Given the description of an element on the screen output the (x, y) to click on. 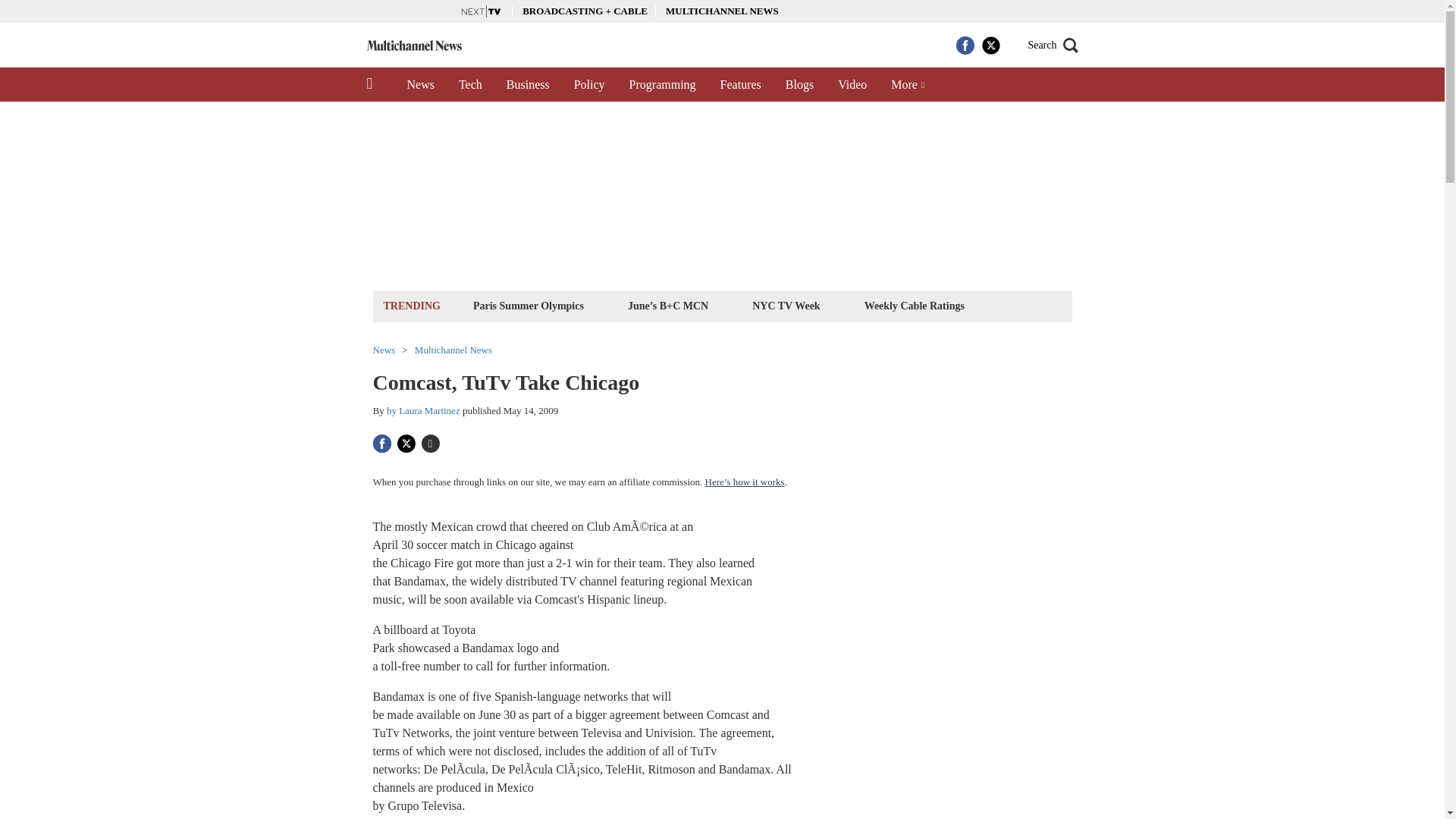
News (419, 84)
Blogs (799, 84)
Tech (470, 84)
by Laura Martinez (423, 410)
Business (528, 84)
MULTICHANNEL NEWS (721, 10)
Features (740, 84)
NYC TV Week (785, 305)
Paris Summer Olympics (528, 305)
Weekly Cable Ratings (914, 305)
Programming (662, 84)
Policy (589, 84)
Video (852, 84)
Multichannel News (453, 349)
